Given the description of an element on the screen output the (x, y) to click on. 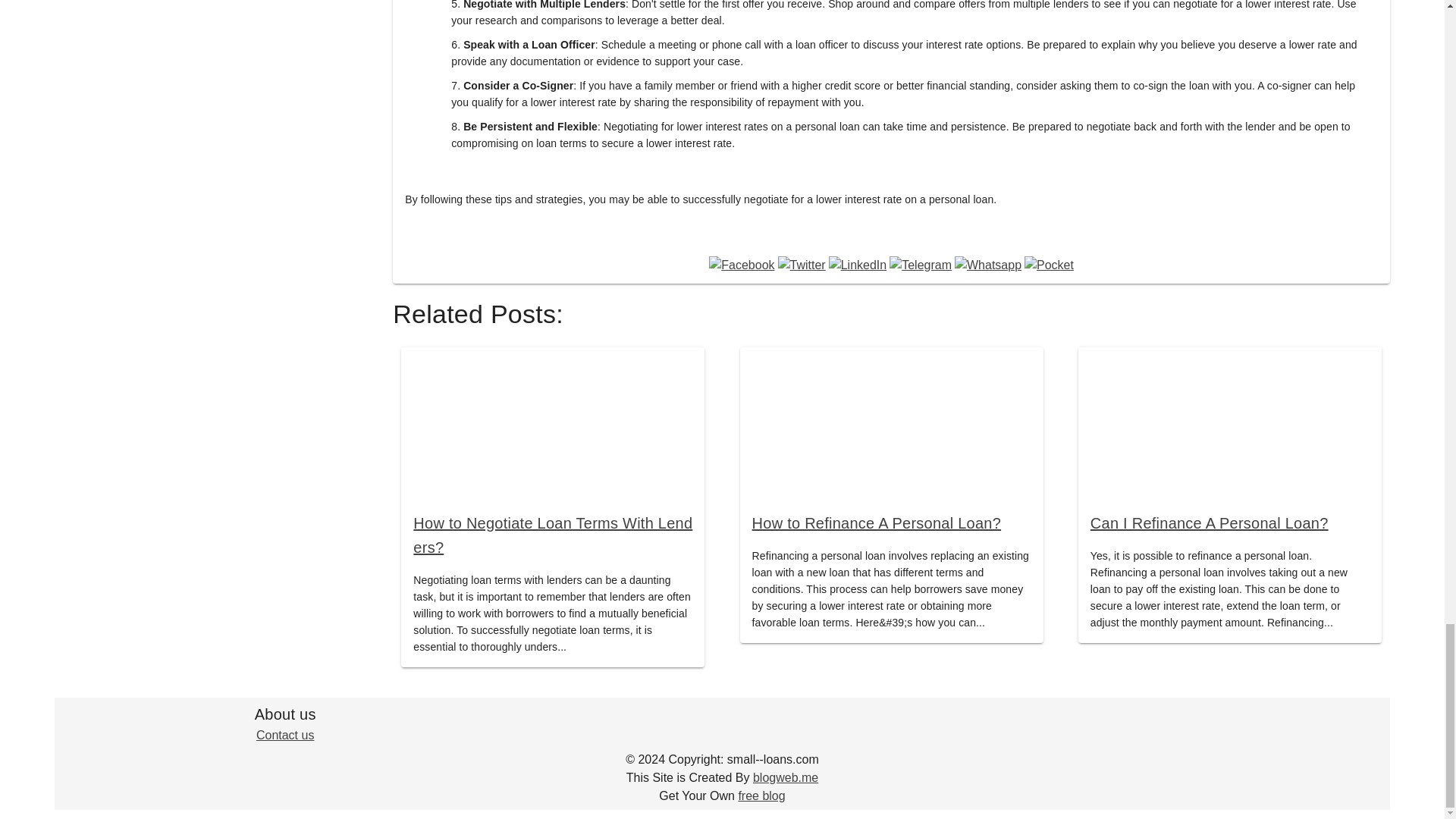
Pocket (1049, 265)
How to Refinance A Personal Loan? (876, 523)
LinkedIn (857, 265)
Can I Refinance A Personal Loan? (1208, 523)
free blog (761, 795)
How to Negotiate Loan Terms With Lenders? (553, 535)
Contact us (285, 735)
blogweb.me (785, 777)
Whatsapp (988, 265)
Telegram (920, 265)
